Given the description of an element on the screen output the (x, y) to click on. 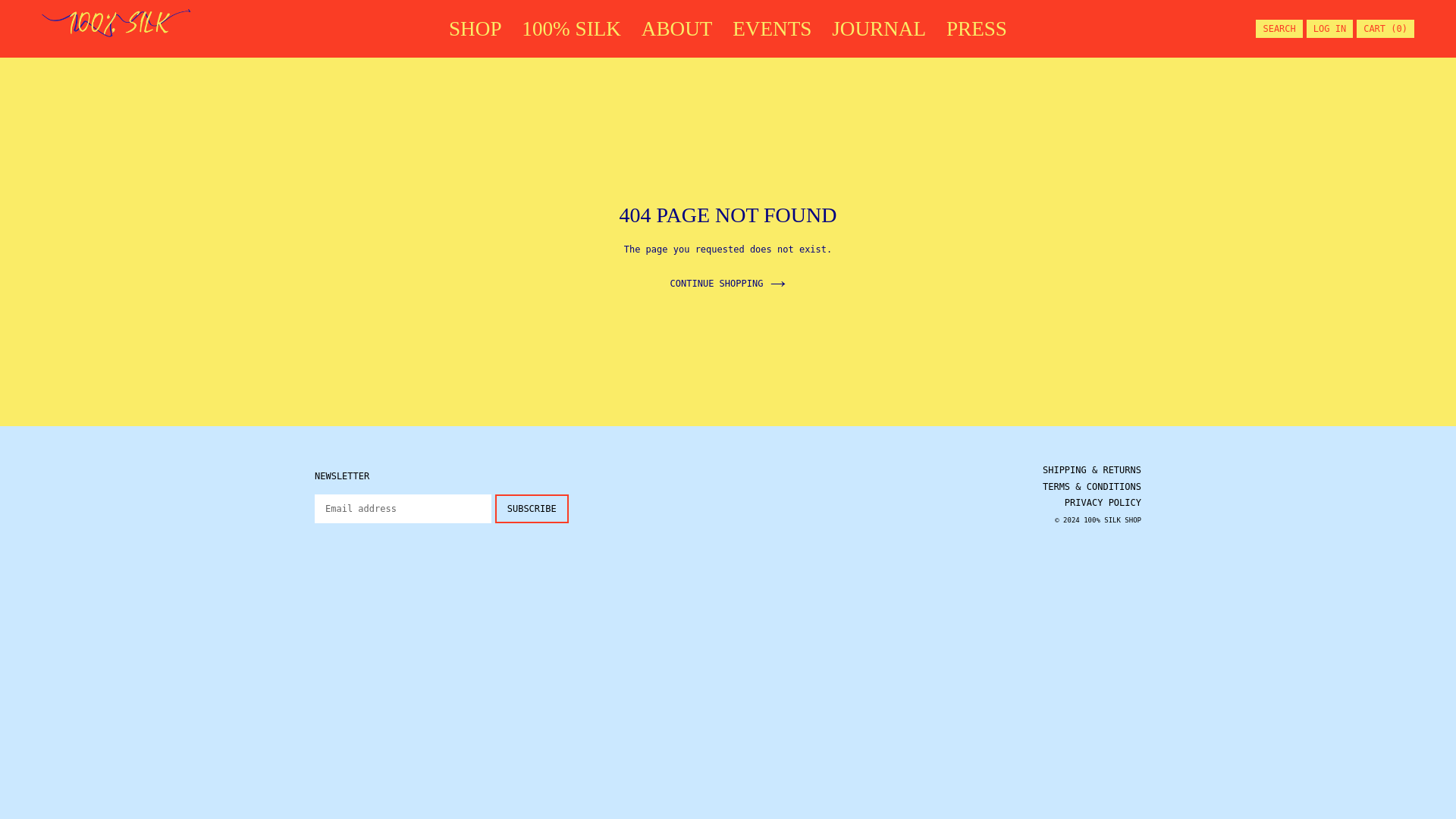
EVENTS (771, 28)
LOG IN (1329, 28)
JOURNAL (878, 28)
PRESS (976, 28)
ABOUT (676, 28)
SHOP (475, 28)
SEARCH (1278, 28)
